Given the description of an element on the screen output the (x, y) to click on. 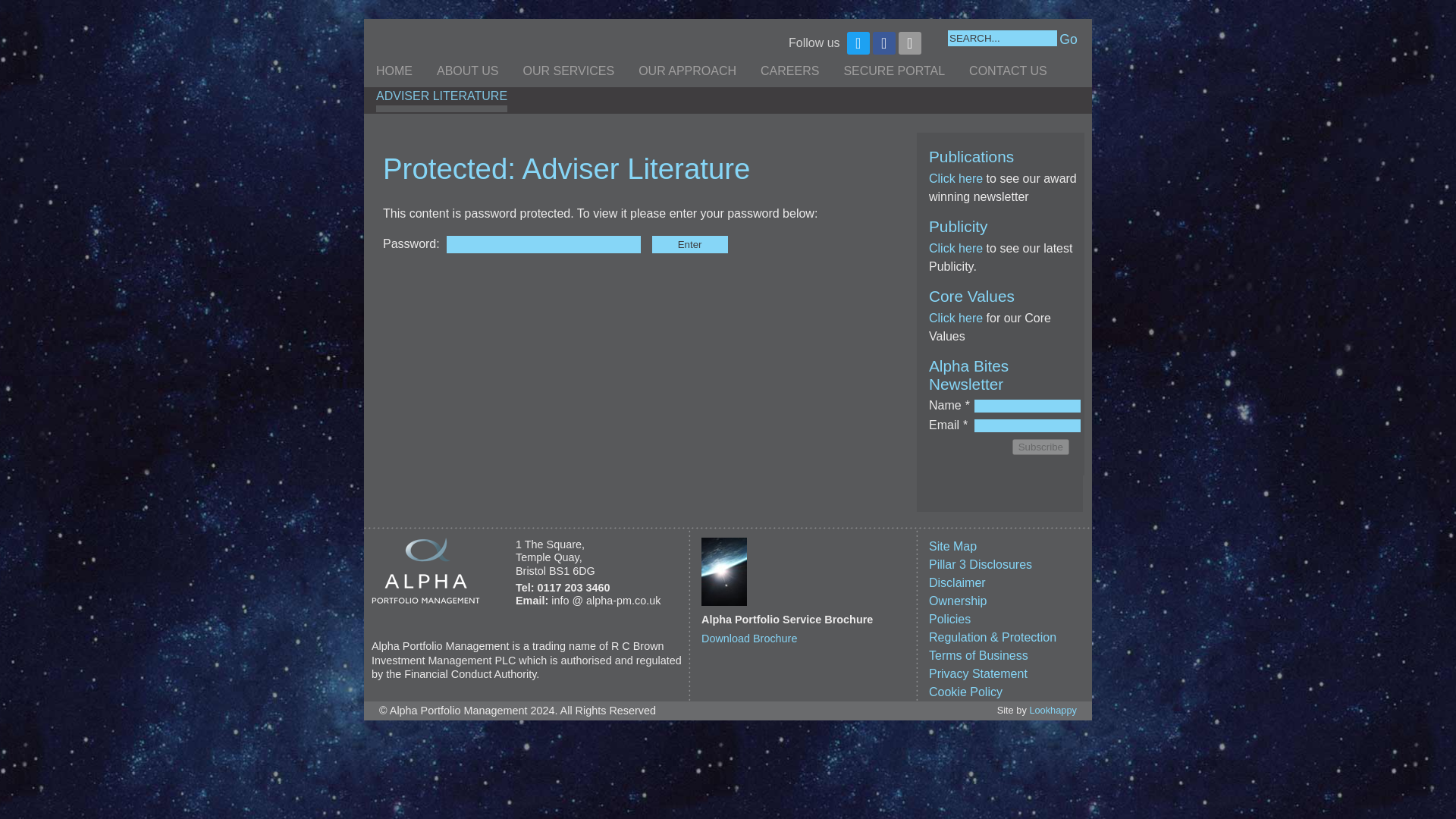
Go (1068, 39)
Download Brochure (748, 638)
Publicity (955, 178)
Click here (955, 318)
Enter (690, 244)
Click here (955, 247)
Publicity (955, 247)
SEARCH... (1002, 37)
Twitter (858, 42)
LinkedIn (909, 42)
Facebook (883, 42)
Subscribe (1039, 446)
HOME (393, 74)
OUR APPROACH (687, 74)
CONTACT US (1007, 74)
